Given the description of an element on the screen output the (x, y) to click on. 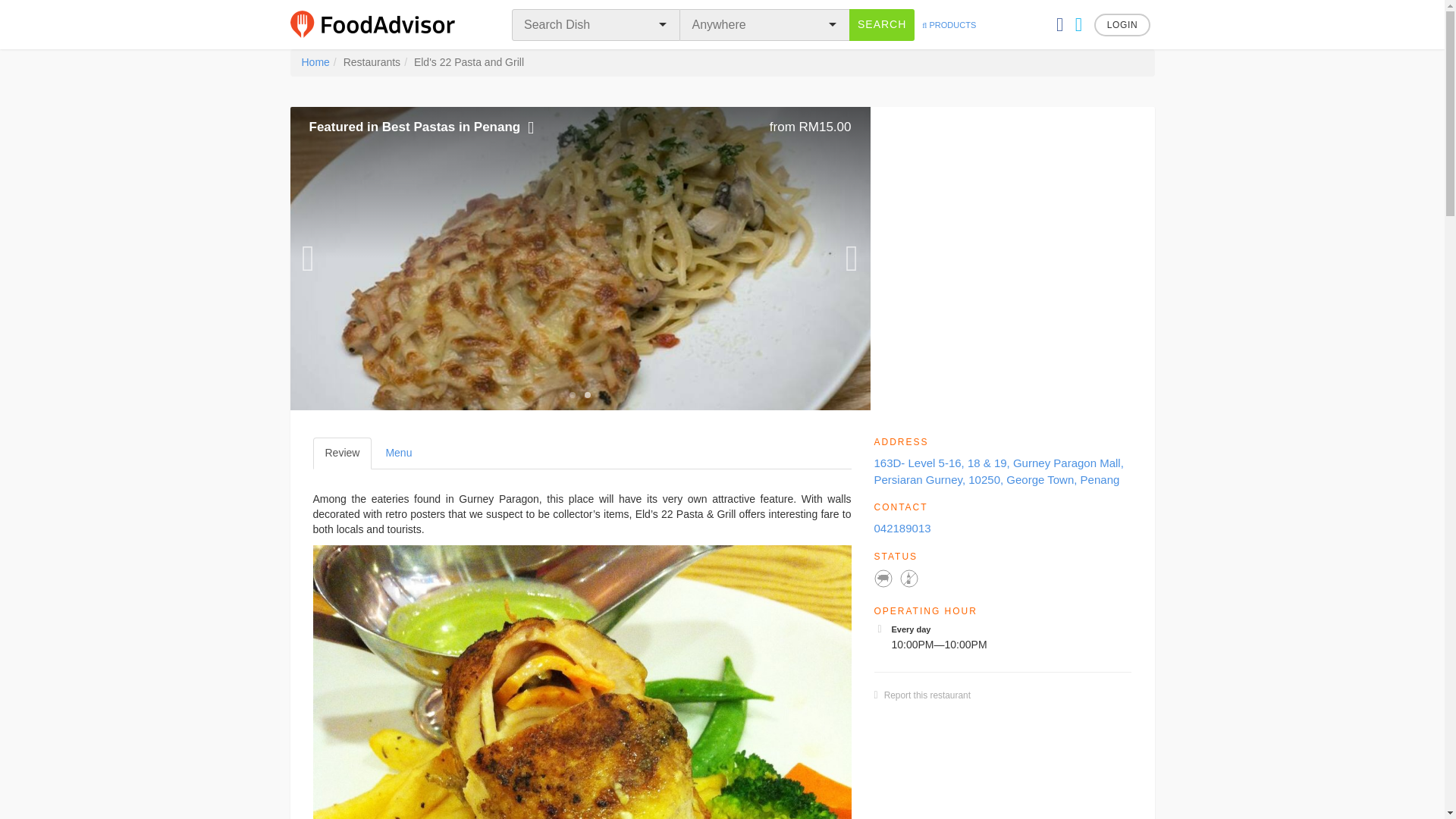
Review (342, 453)
LOGIN (1122, 24)
042189013 (901, 527)
Menu (881, 24)
1 (397, 453)
2 (571, 394)
Foodadvisor.my (587, 394)
Home (381, 24)
Report this restaurant (315, 61)
PRODUCTS (927, 695)
